Given the description of an element on the screen output the (x, y) to click on. 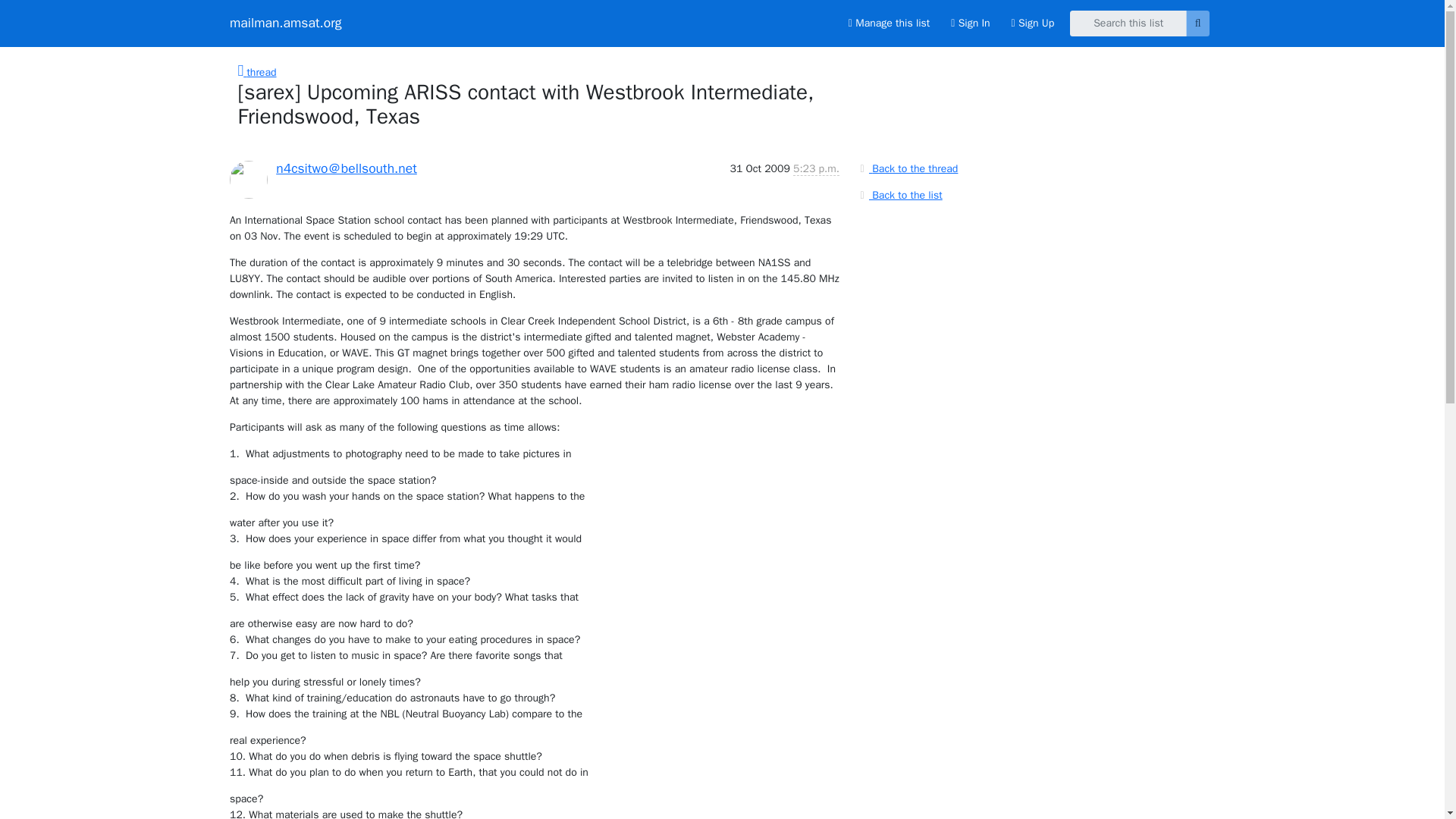
Sign Up (1033, 22)
Manage this list (889, 22)
Back to the thread (907, 168)
Sign In (970, 22)
Sender's time: Oct. 31, 2009, 6:23 p.m. (816, 169)
thread (257, 72)
mailman.amsat.org (286, 23)
Back to the list (899, 194)
